Given the description of an element on the screen output the (x, y) to click on. 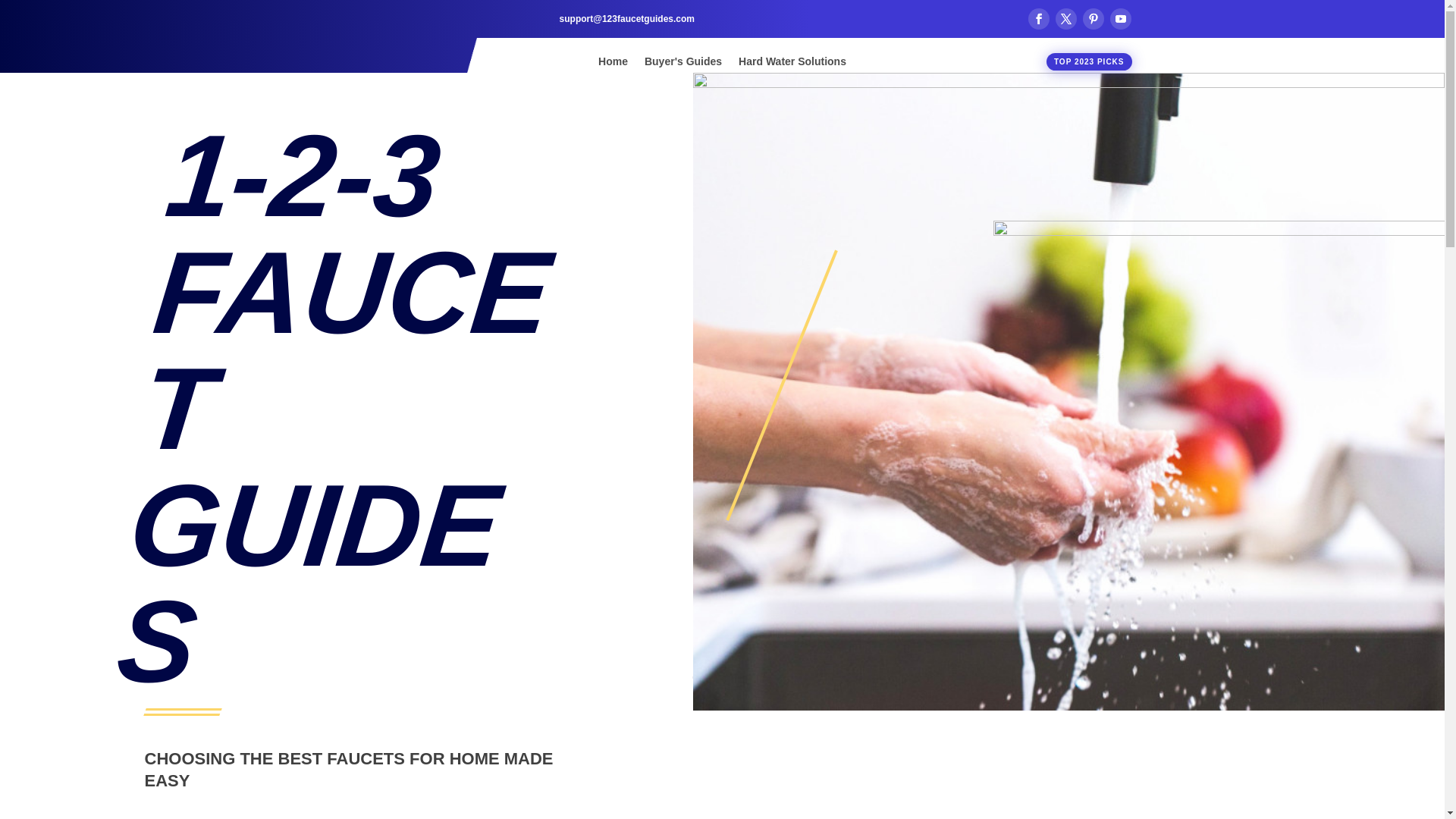
Hard Water Solutions Element type: text (792, 64)
Follow on Pinterest Element type: hover (1093, 18)
Buyer's Guides Element type: text (682, 64)
Follow on Facebook Element type: hover (1038, 18)
Follow on X Element type: hover (1065, 18)
Follow on Youtube Element type: hover (1120, 18)
Home Element type: text (612, 64)
TOP 2023 PICKS Element type: text (1089, 61)
